Given the description of an element on the screen output the (x, y) to click on. 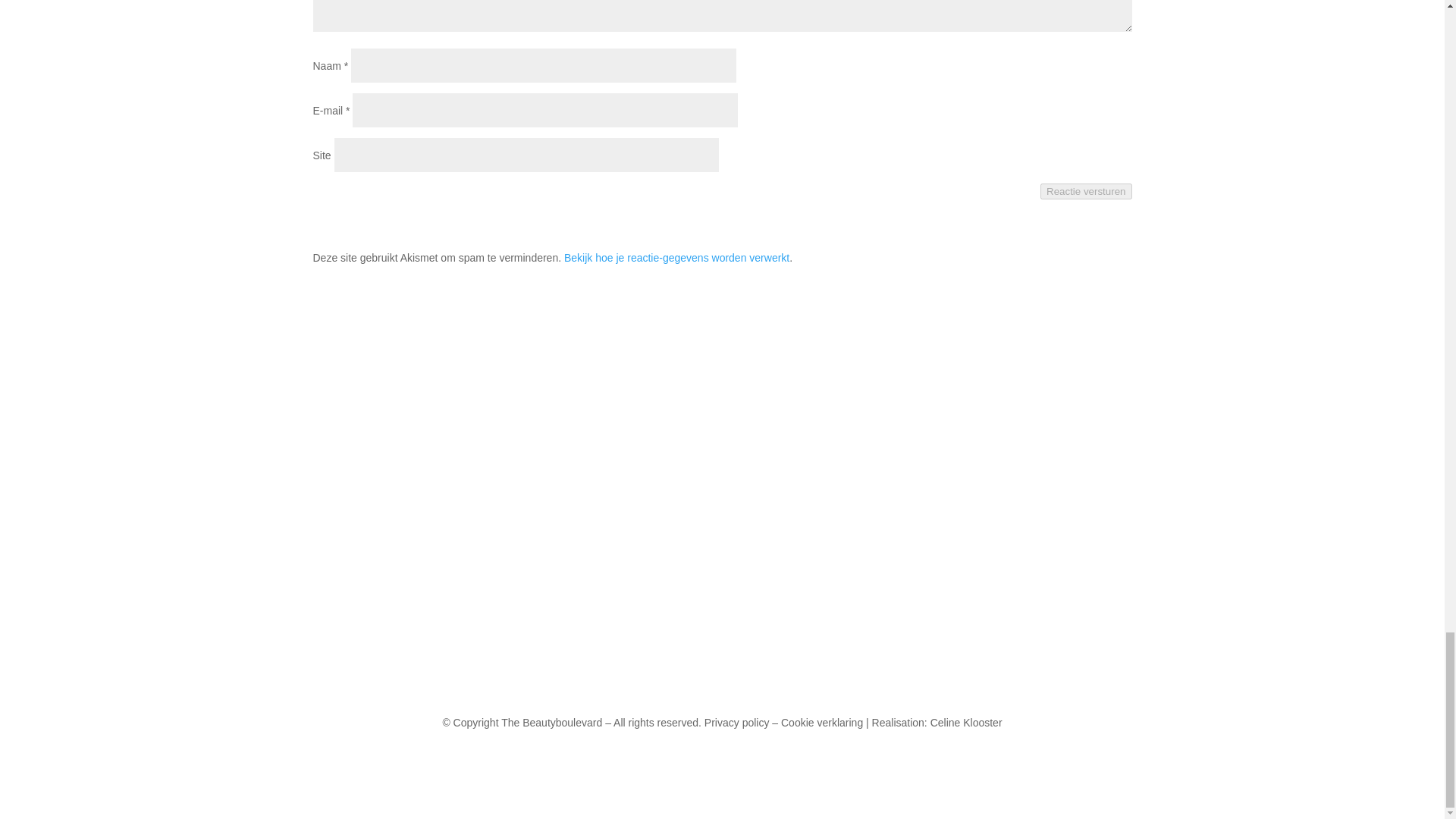
Volgknop (691, 672)
Volgknop (721, 672)
Volgknop (751, 672)
